Given the description of an element on the screen output the (x, y) to click on. 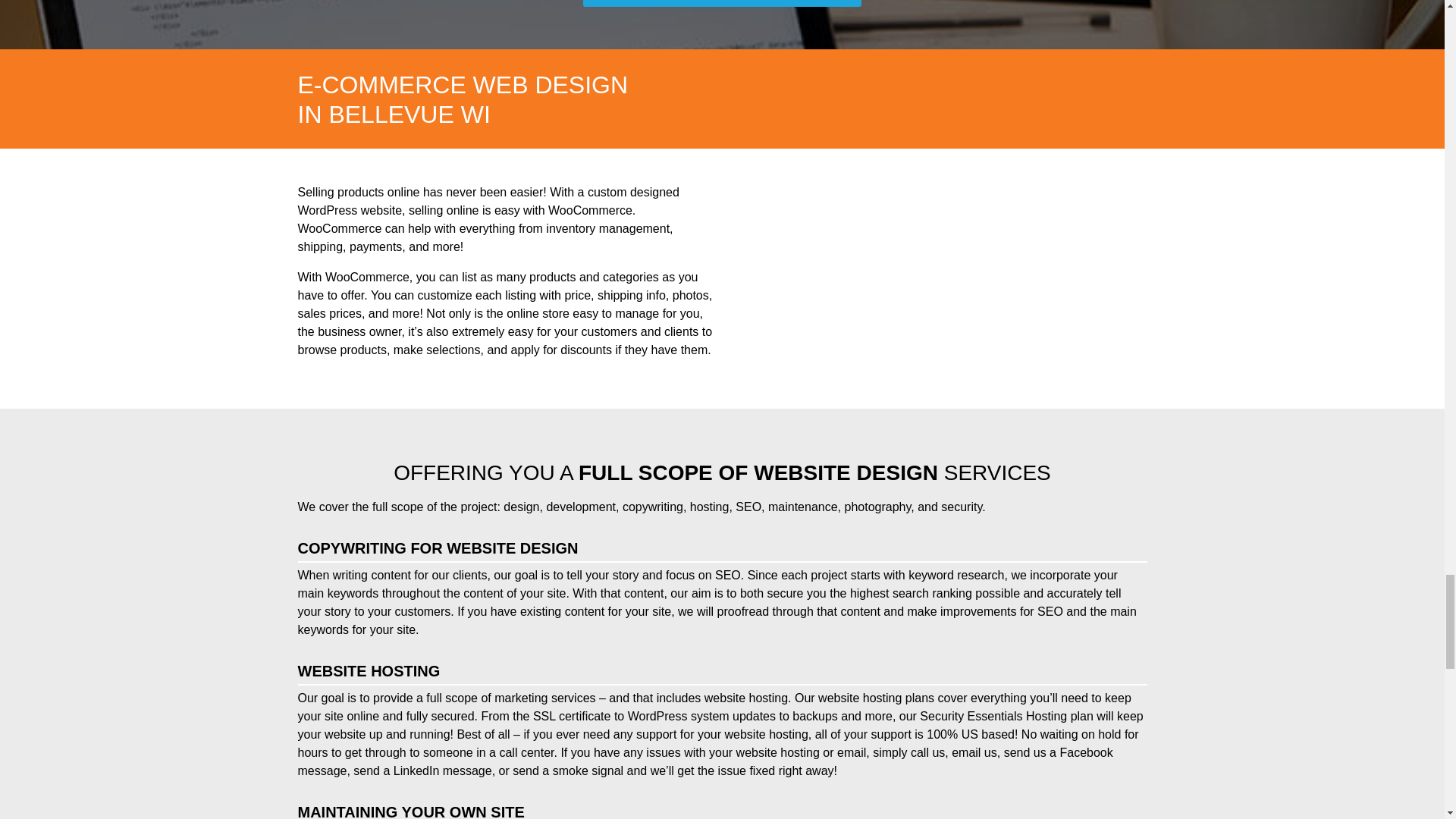
schedule your FREE web design consultation (722, 3)
